Given the description of an element on the screen output the (x, y) to click on. 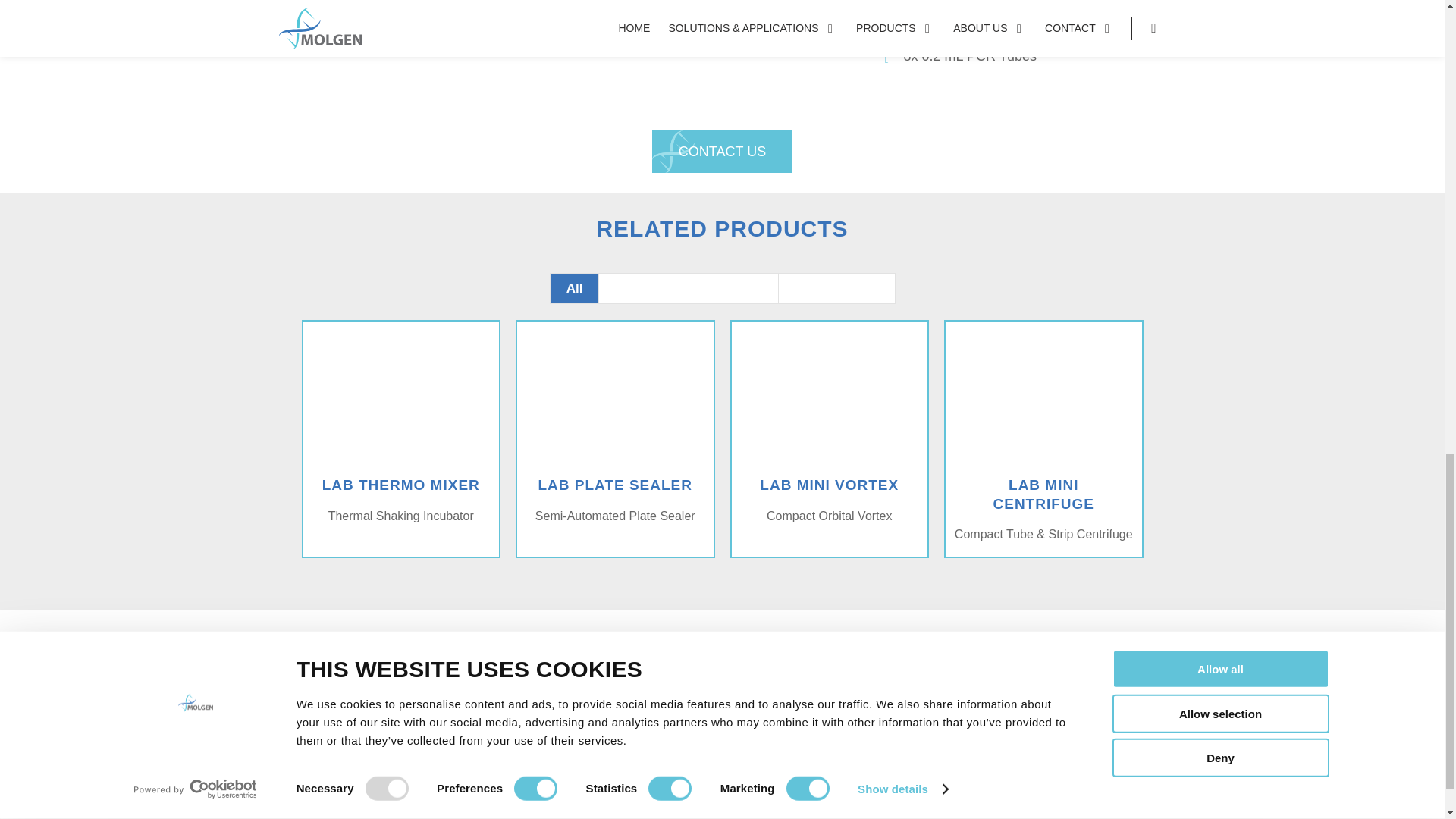
Follow on LinkedIn (357, 781)
Asset 4 (518, 583)
Asset 1 (411, 698)
